Given the description of an element on the screen output the (x, y) to click on. 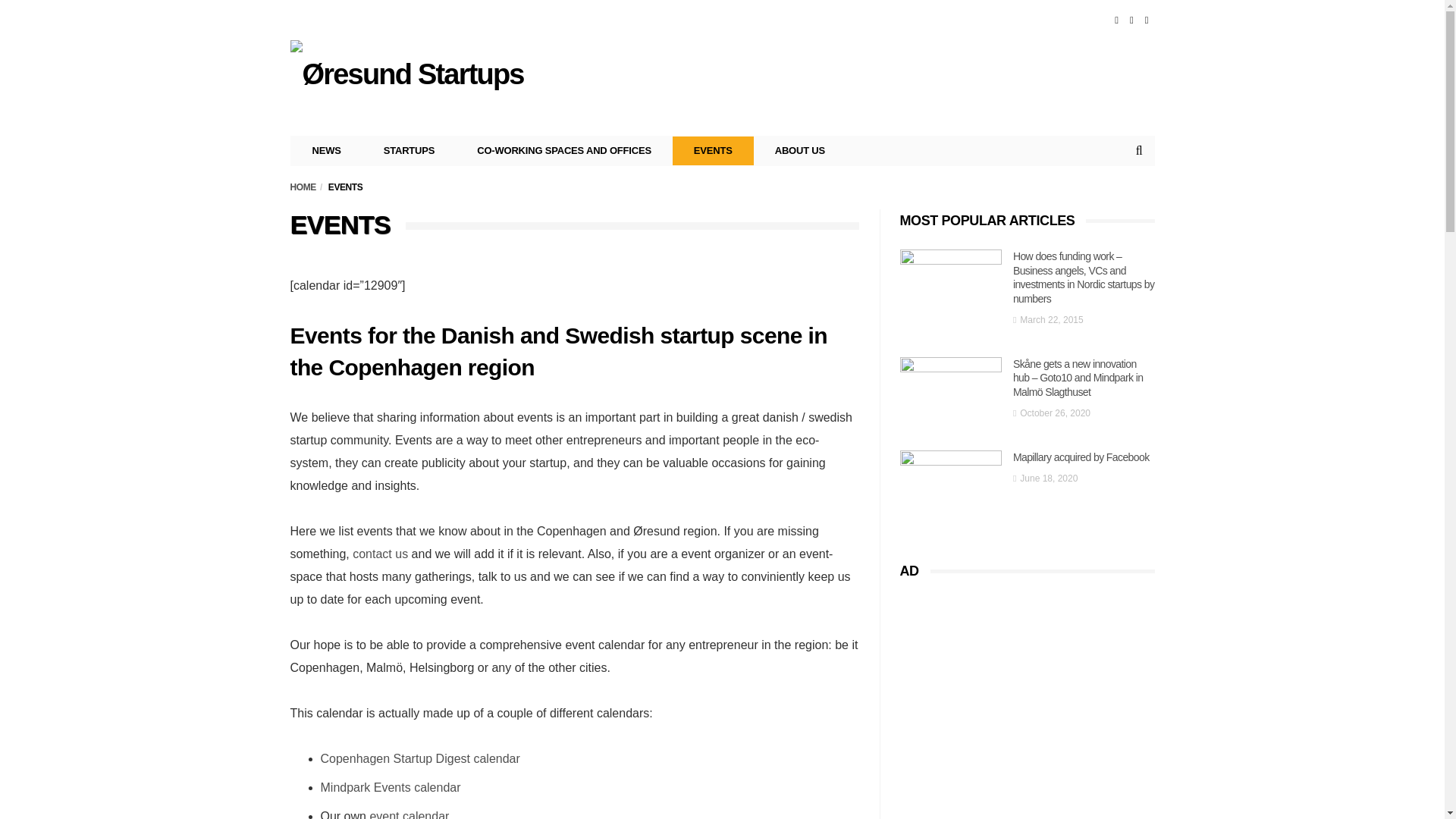
STARTUPS (409, 150)
NEWS (326, 150)
event calendar (408, 814)
Copenhagen Startup Digest (394, 758)
CO-WORKING SPACES AND OFFICES (563, 150)
contact us (379, 553)
EVENTS (713, 150)
ABOUT US (799, 150)
calendar (436, 787)
Mindpark Events (365, 787)
